Given the description of an element on the screen output the (x, y) to click on. 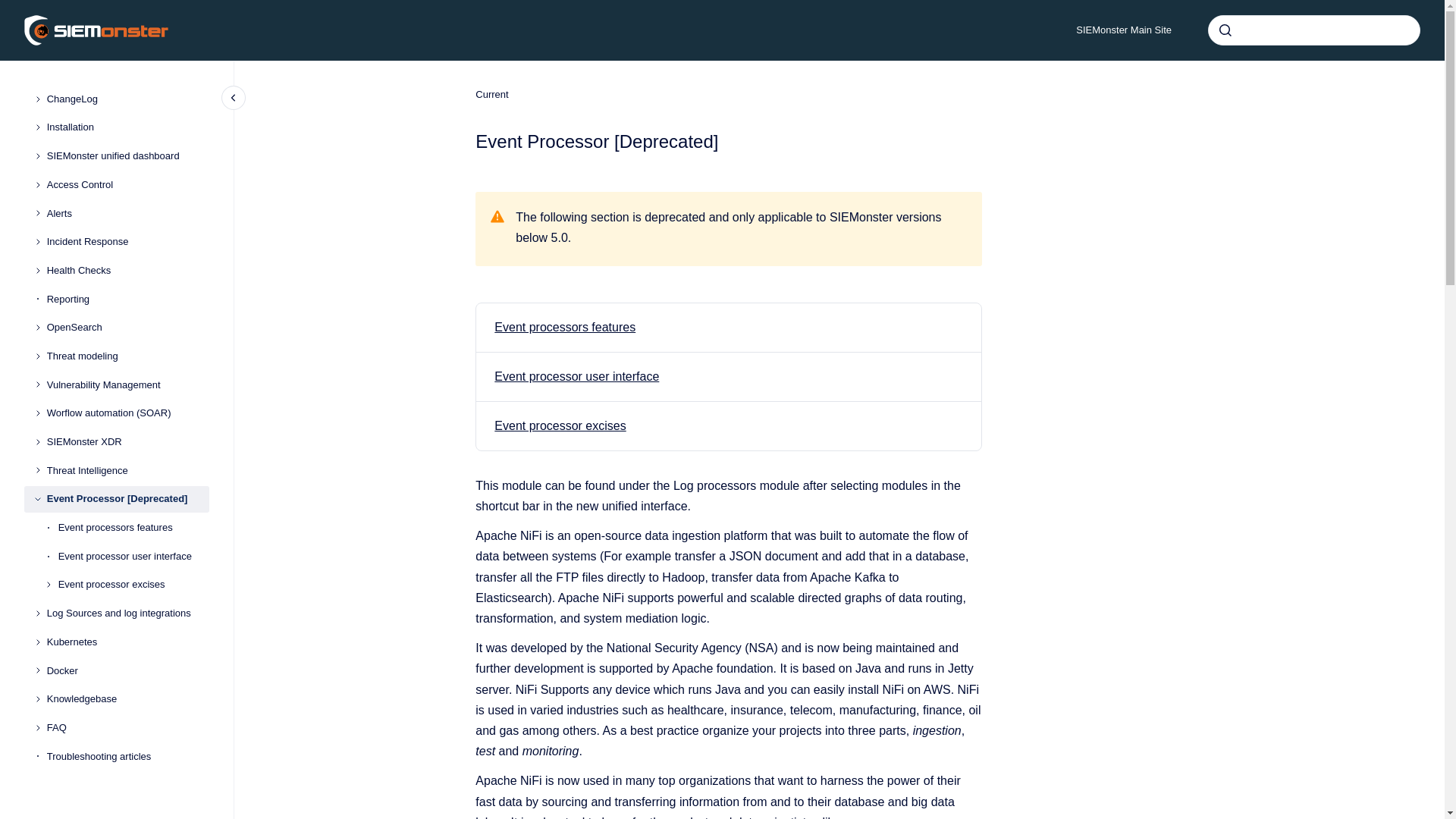
Vulnerability Management (127, 384)
Log Sources and log integrations (127, 613)
SIEMonster XDR (127, 441)
ChangeLog (127, 99)
Health Checks (127, 270)
Incident Response (127, 241)
Event processor user interface (577, 376)
Reporting (127, 298)
OpenSearch (127, 327)
Event processor user interface (133, 556)
Access Control (127, 185)
Alerts (127, 213)
Installation (127, 127)
SIEMonster Main Site (1123, 29)
Threat Intelligence (127, 470)
